Given the description of an element on the screen output the (x, y) to click on. 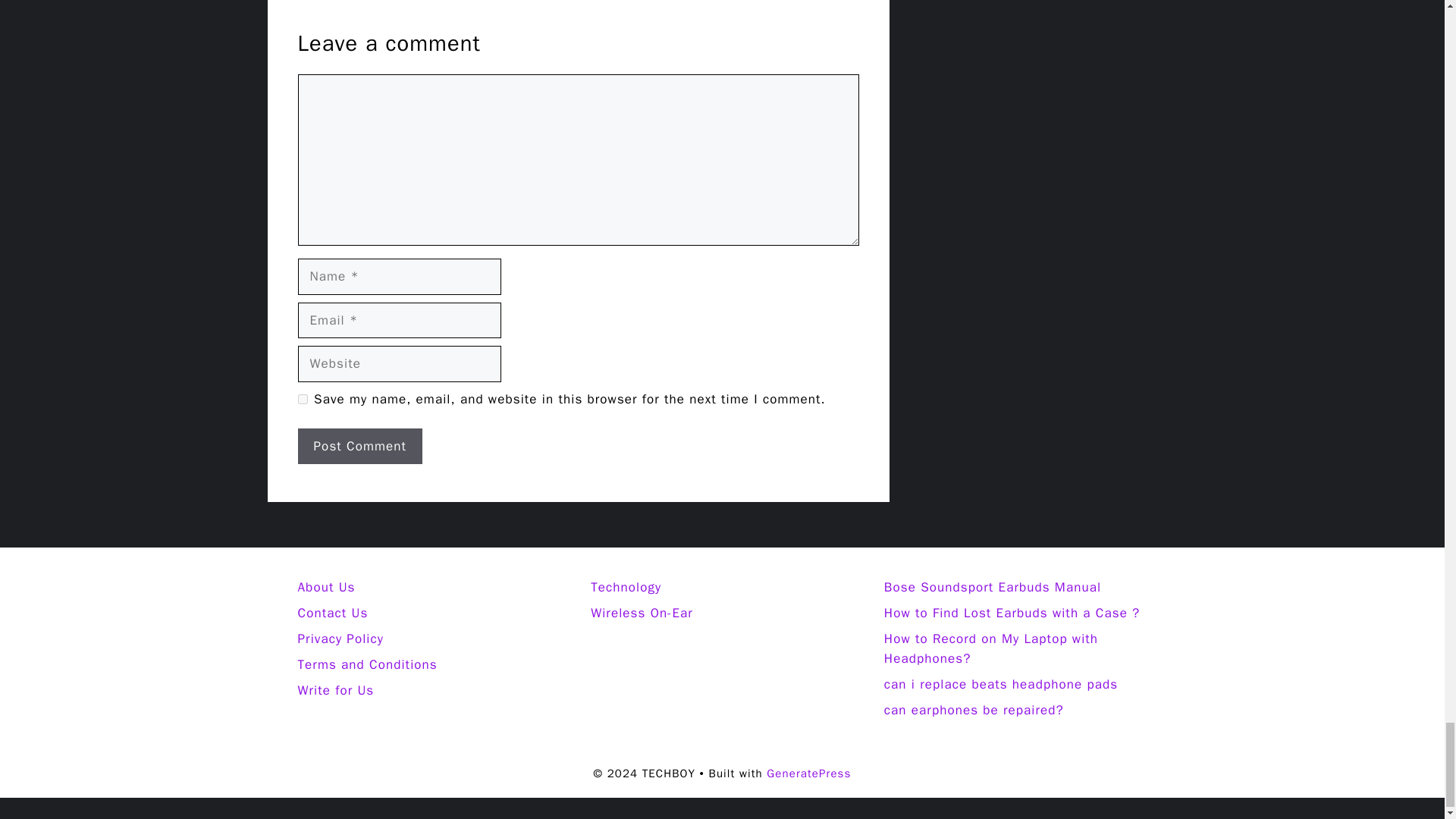
Post Comment (359, 446)
Post Comment (359, 446)
yes (302, 398)
